Given the description of an element on the screen output the (x, y) to click on. 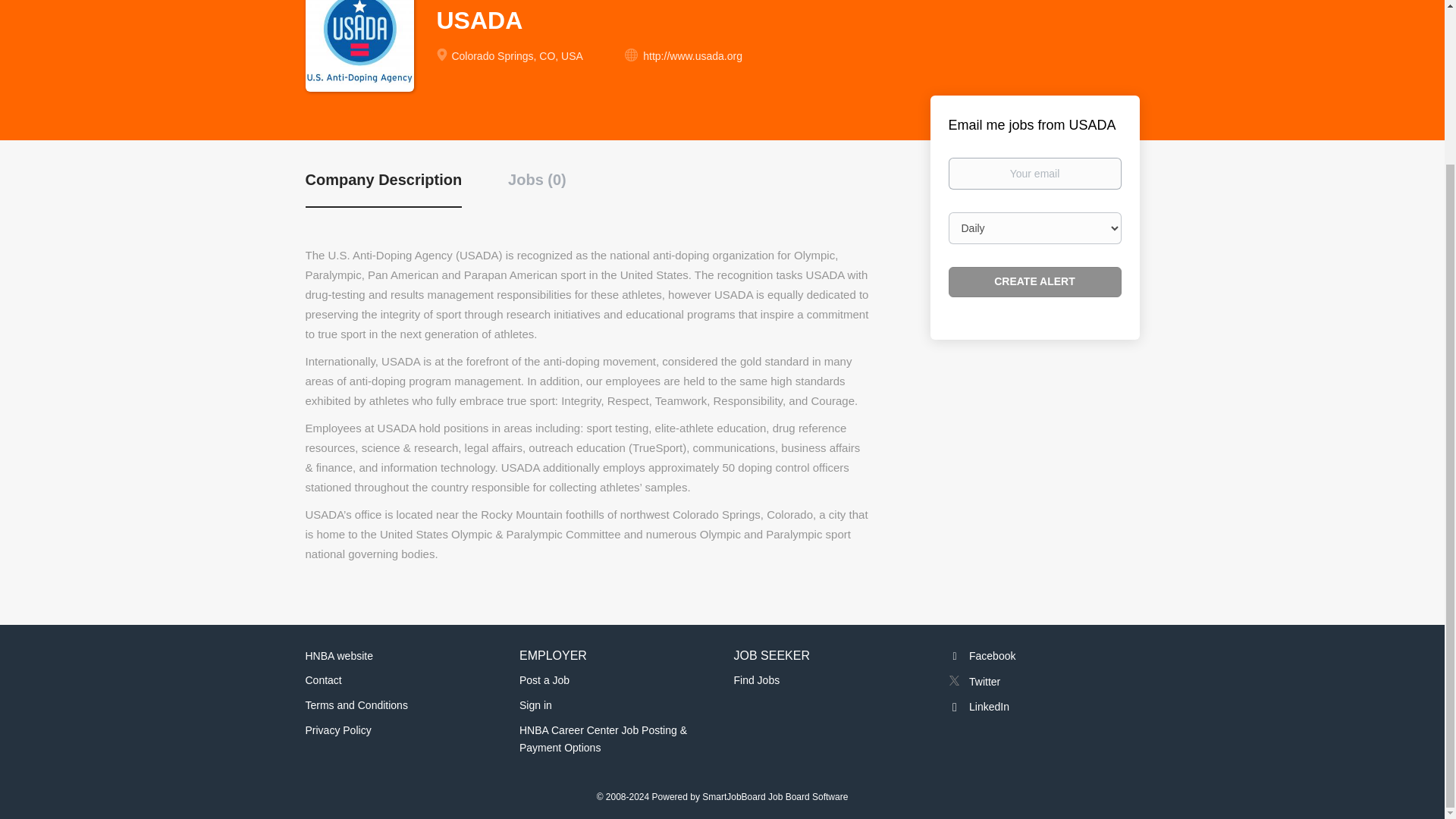
Twitter (973, 681)
HNBA website (338, 655)
Post a Job (544, 680)
Create alert (1034, 281)
Find Jobs (756, 680)
SmartJobBoard Job Board Software (774, 796)
Create alert (1034, 281)
Job Board Software, Script (774, 796)
Facebook (980, 655)
LinkedIn (978, 706)
Contact (322, 680)
Privacy Policy (337, 729)
Company Description (382, 188)
Terms and Conditions (355, 705)
Sign in (535, 705)
